Given the description of an element on the screen output the (x, y) to click on. 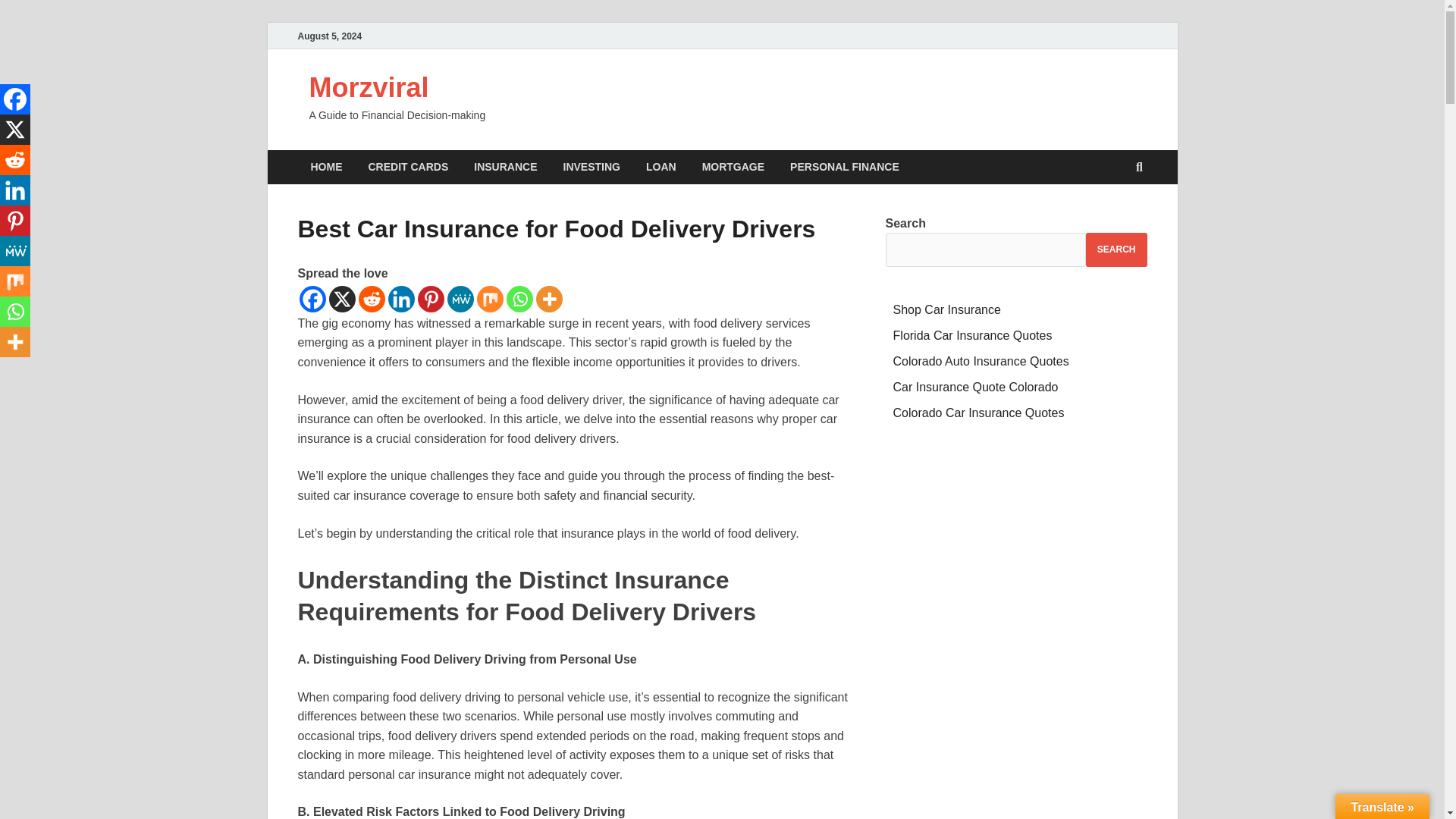
X (342, 298)
INVESTING (591, 166)
INSURANCE (505, 166)
Reddit (15, 159)
Linkedin (15, 190)
Morzviral (368, 87)
MORTGAGE (732, 166)
Facebook (15, 99)
Pinterest (430, 298)
MeWe (460, 298)
LOAN (660, 166)
Whatsapp (519, 298)
PERSONAL FINANCE (844, 166)
Linkedin (401, 298)
HOME (326, 166)
